Given the description of an element on the screen output the (x, y) to click on. 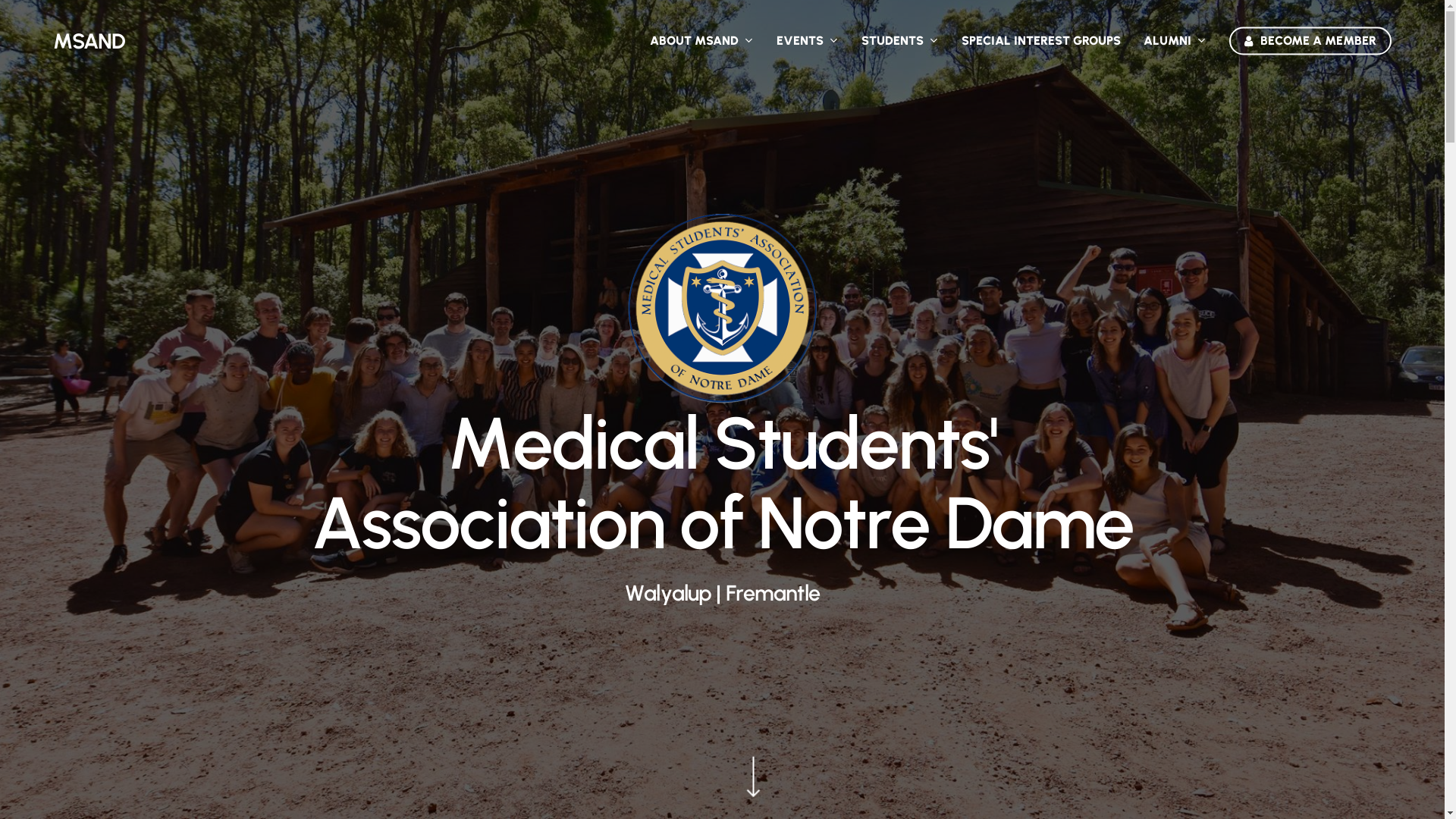
EVENTS Element type: text (807, 40)
ABOUT MSAND Element type: text (701, 40)
STUDENTS Element type: text (899, 40)
SPECIAL INTEREST GROUPS Element type: text (1040, 40)
ALUMNI Element type: text (1174, 40)
BECOME A MEMBER Element type: text (1310, 40)
MSAND Element type: text (89, 40)
